Given the description of an element on the screen output the (x, y) to click on. 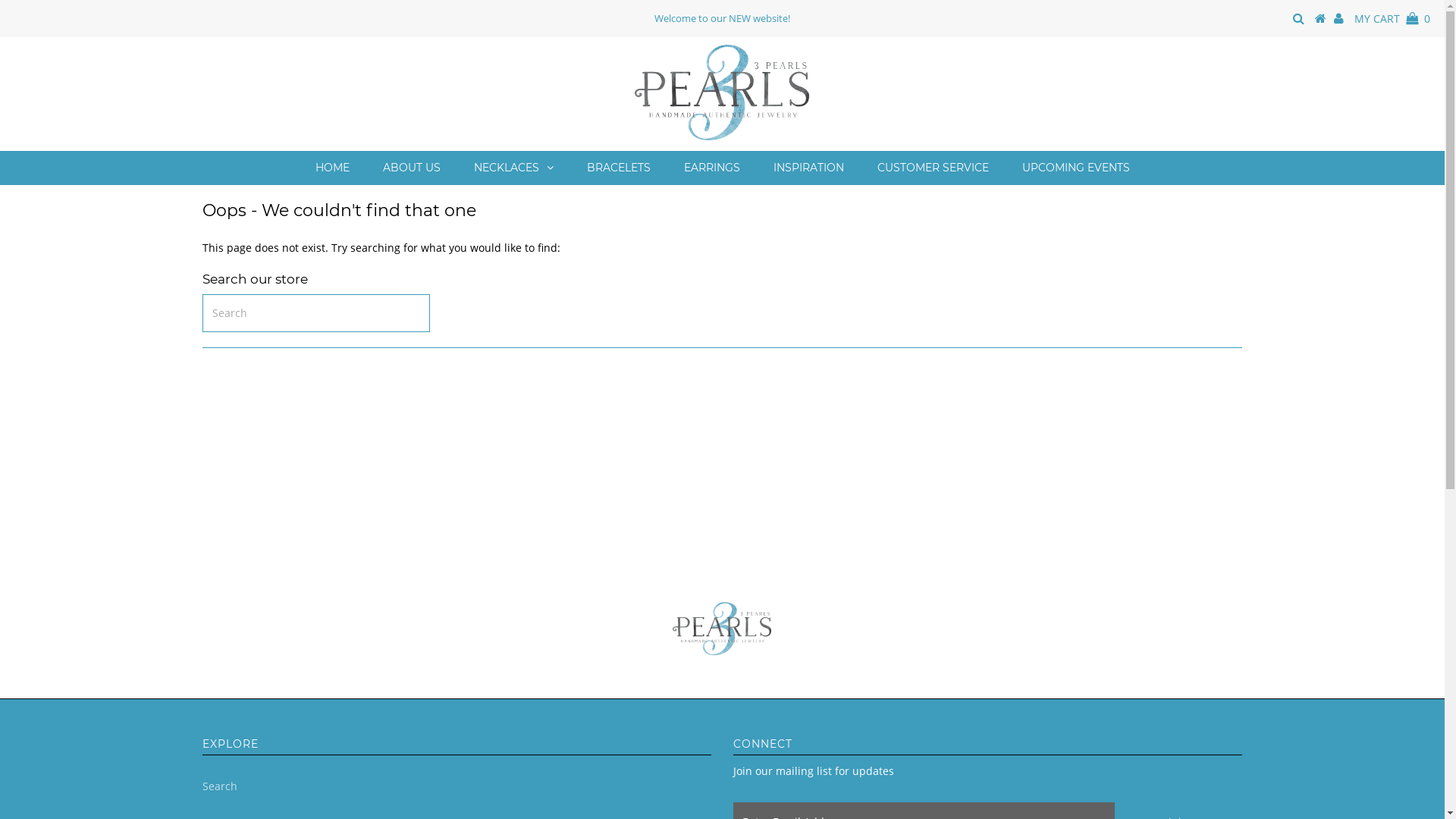
HOME Element type: text (332, 167)
MY CART    0 Element type: text (1392, 18)
NECKLACES Element type: text (512, 167)
INSPIRATION Element type: text (808, 167)
ABOUT US Element type: text (411, 167)
Search Element type: text (219, 785)
CUSTOMER SERVICE Element type: text (932, 167)
BRACELETS Element type: text (618, 167)
UPCOMING EVENTS Element type: text (1076, 167)
EARRINGS Element type: text (711, 167)
